Given the description of an element on the screen output the (x, y) to click on. 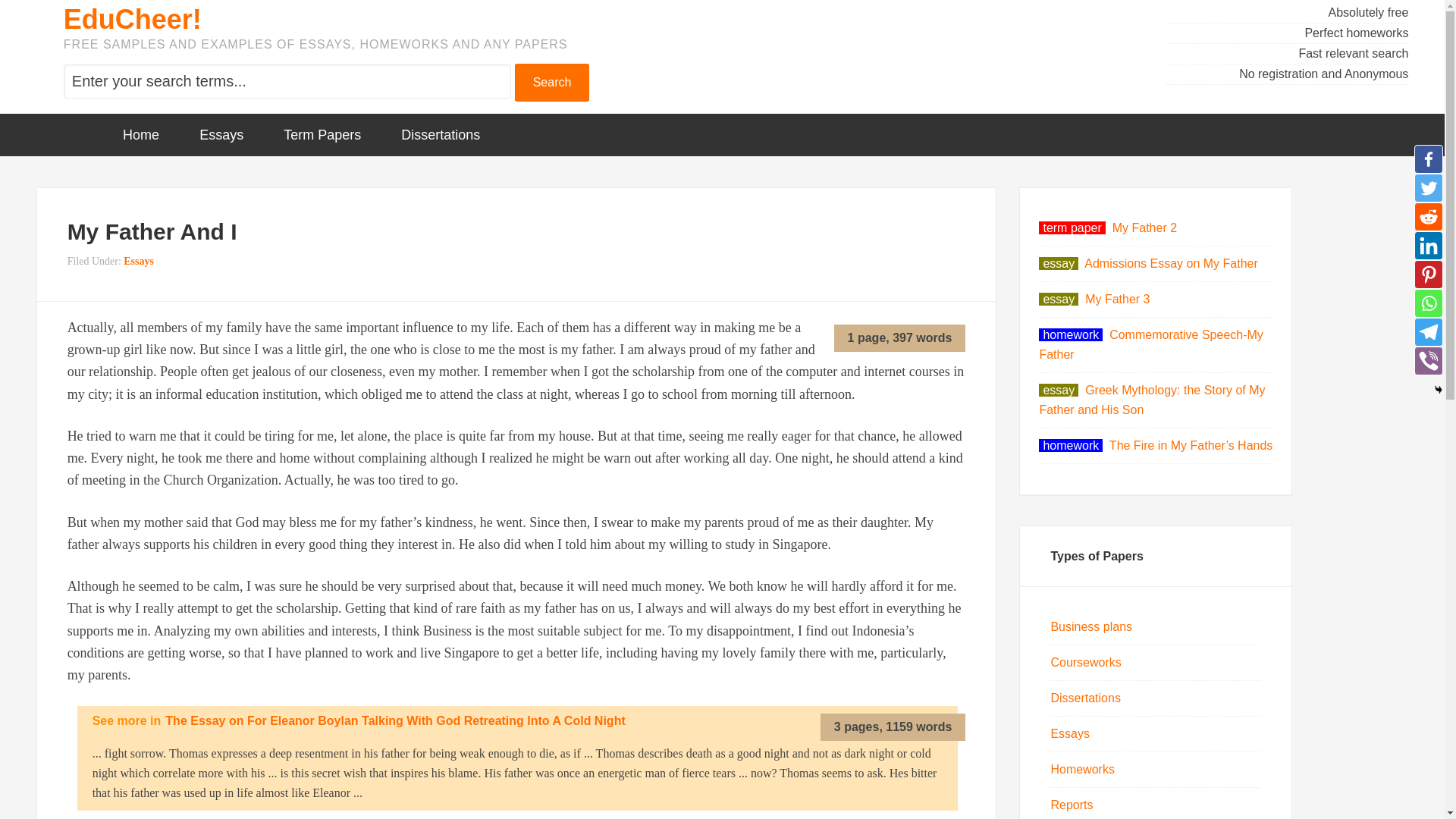
Dissertations (439, 134)
Enter your search terms... (287, 81)
Reports (1071, 804)
Twitter (1427, 187)
Home (140, 134)
Essays (1069, 733)
essay  Admissions Essay on My Father (1148, 263)
Essays (138, 260)
Essays (221, 134)
Reddit (1427, 216)
Courseworks (1085, 662)
essay  Greek Mythology: the Story of My Father and His Son (1152, 400)
Telegram (1427, 331)
term paper  My Father 2 (1107, 227)
